Given the description of an element on the screen output the (x, y) to click on. 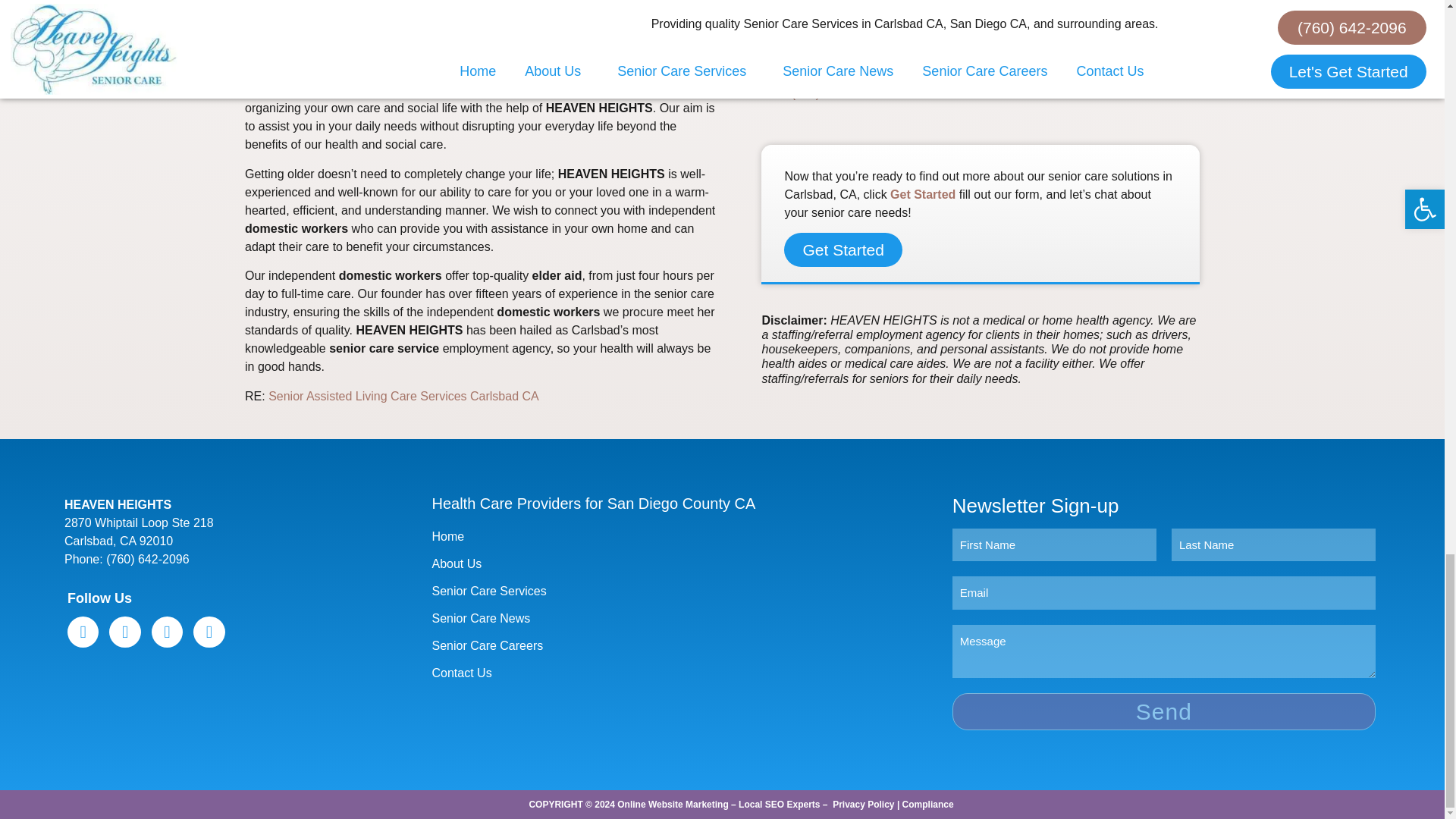
Privacy Policy (862, 804)
Online Website Marketing - Local SEO Experts (718, 804)
Compliance (927, 804)
